Given the description of an element on the screen output the (x, y) to click on. 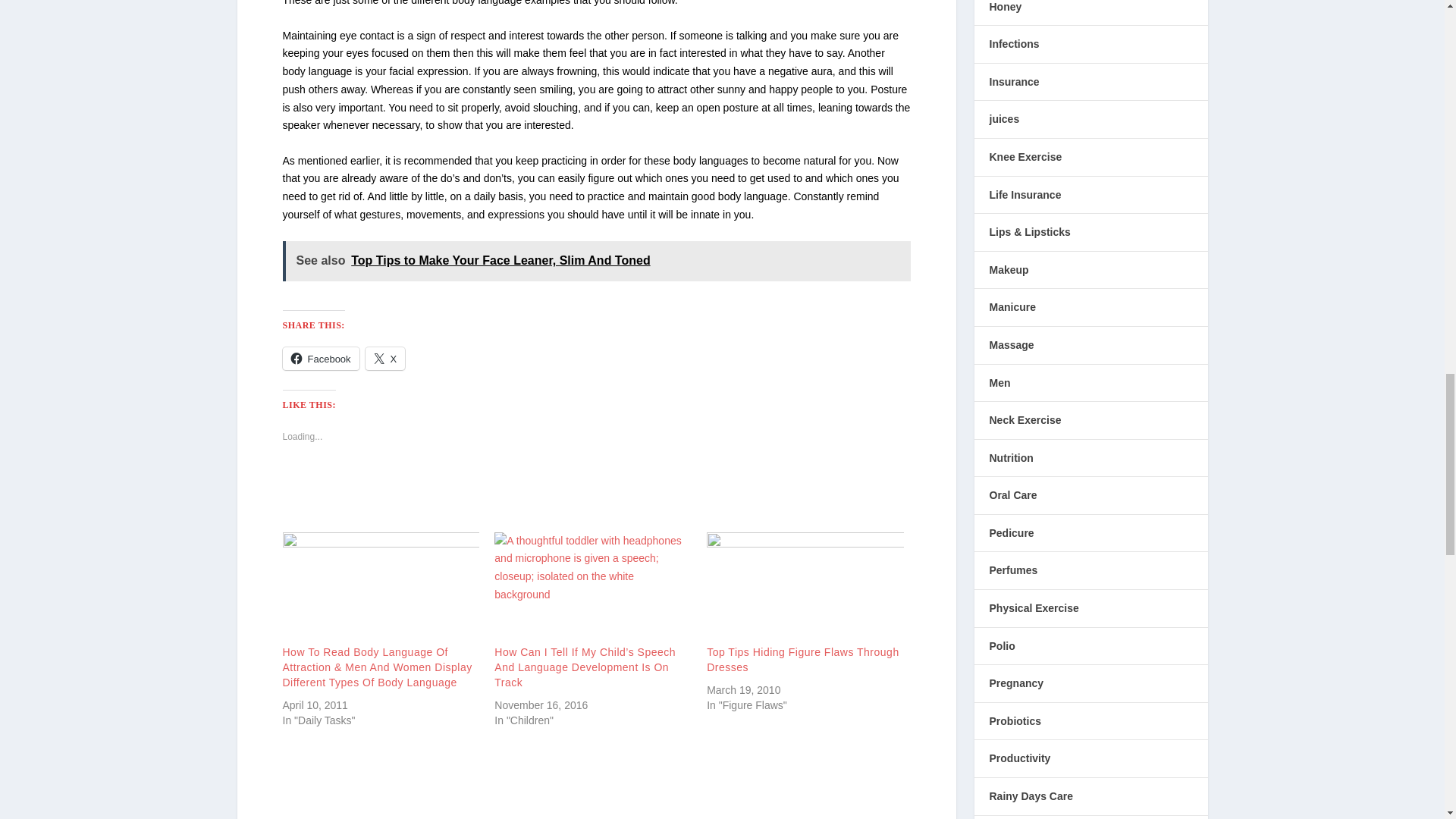
Click to share on Facebook (320, 358)
Like or Reblog (596, 490)
Top Tips Hiding Figure Flaws Through Dresses (802, 659)
Facebook (320, 358)
Click to share on X (385, 358)
See also  Top Tips to Make Your Face Leaner, Slim And Toned (596, 260)
Top Tips Hiding Figure Flaws Through Dresses (802, 659)
Top Tips Hiding Figure Flaws Through Dresses (805, 588)
X (385, 358)
